Given the description of an element on the screen output the (x, y) to click on. 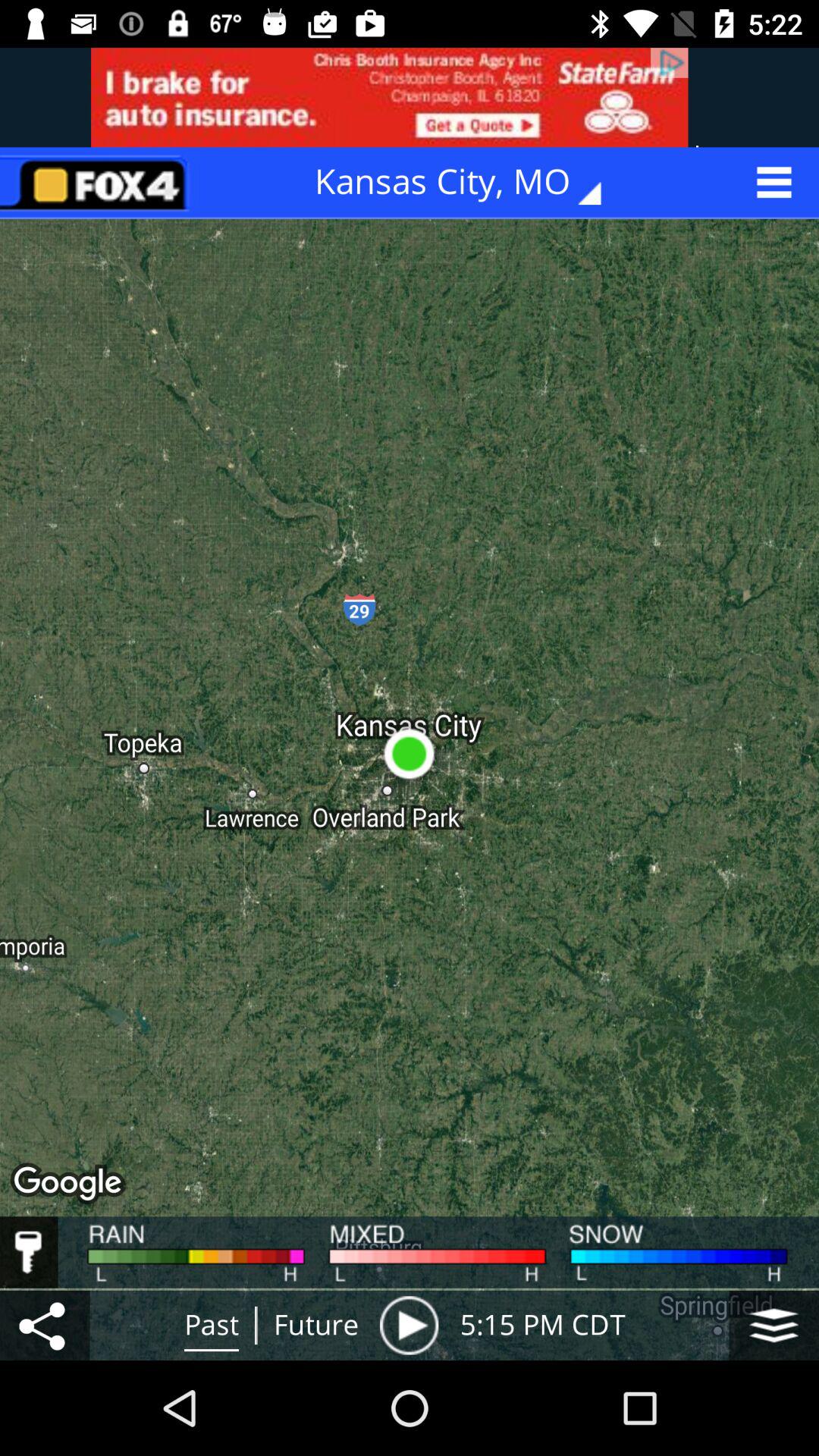
reproduce (409, 1325)
